Given the description of an element on the screen output the (x, y) to click on. 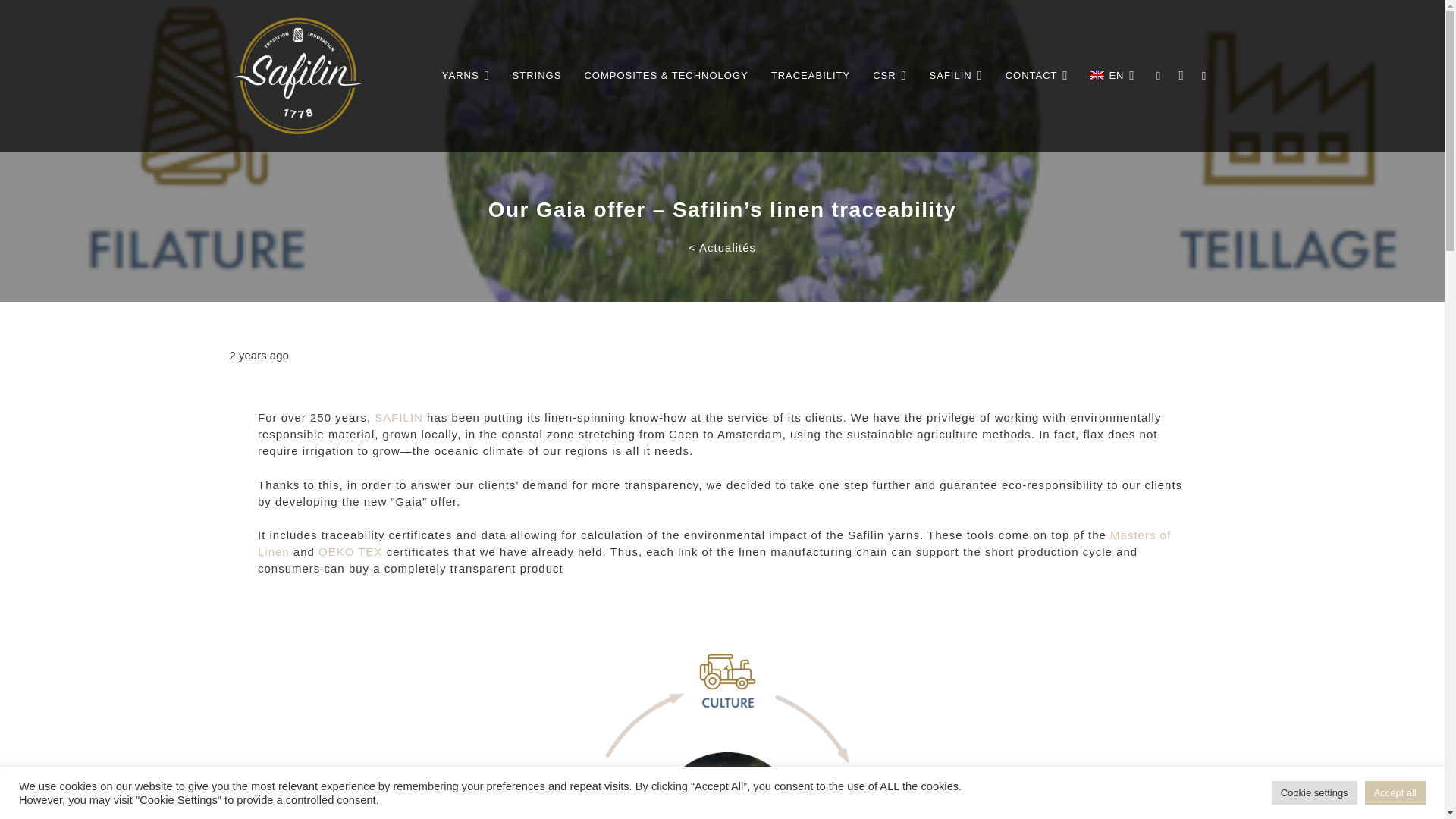
Masters of Linen (713, 542)
OEKO TEX (352, 551)
Facebook (1203, 75)
Instagram (1180, 75)
LinkedIn (1158, 75)
SAFILIN (398, 417)
